Given the description of an element on the screen output the (x, y) to click on. 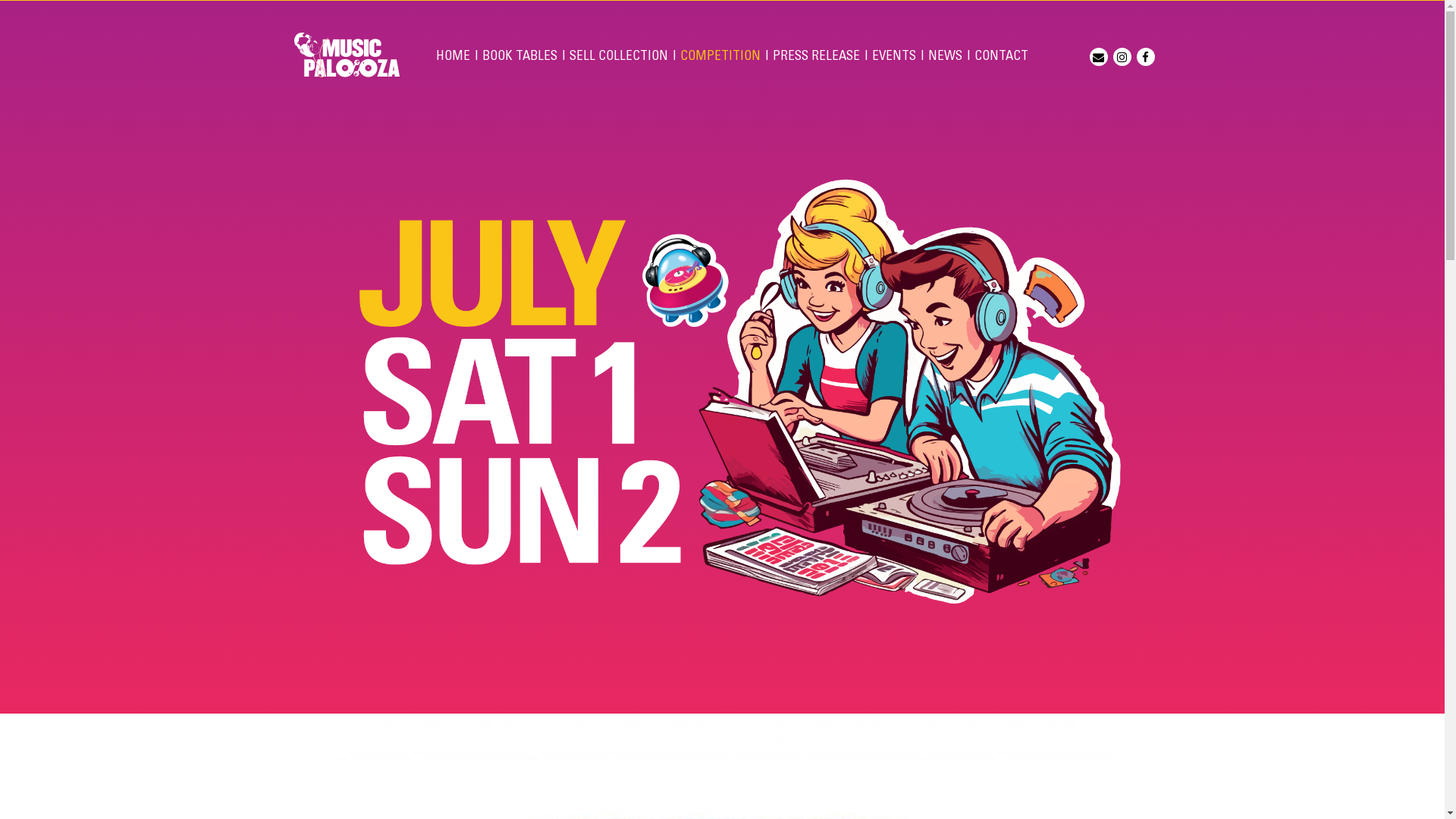
HOME Element type: text (452, 56)
EVENTS Element type: text (894, 56)
CONTACT Element type: text (1001, 56)
BOOK TABLES Element type: text (519, 56)
SELL COLLECTION Element type: text (618, 56)
PRESS RELEASE Element type: text (816, 56)
NEWS Element type: text (945, 56)
COMPETITION Element type: text (720, 56)
